Given the description of an element on the screen output the (x, y) to click on. 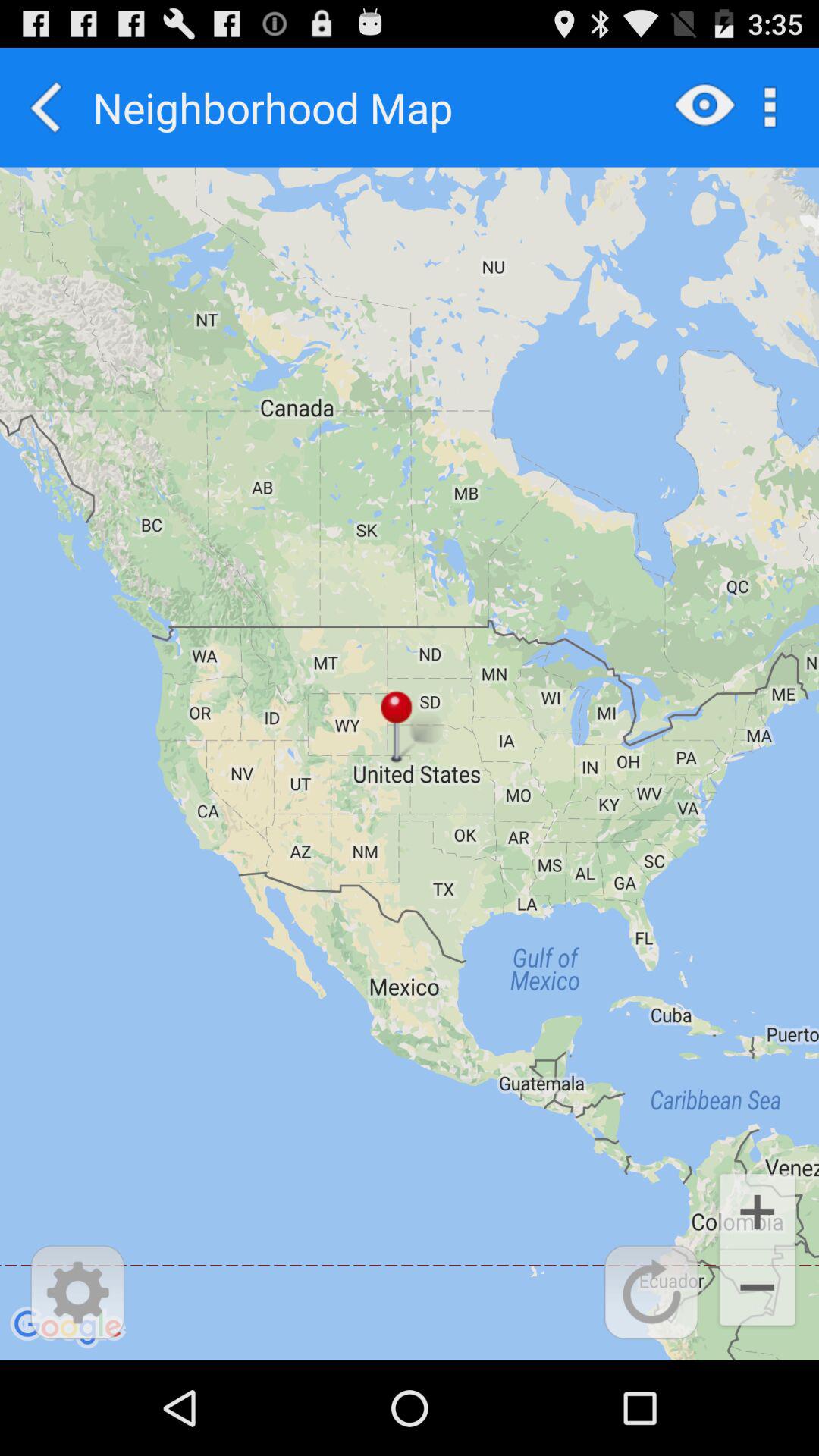
click icon next to the neighborhood map icon (46, 106)
